Given the description of an element on the screen output the (x, y) to click on. 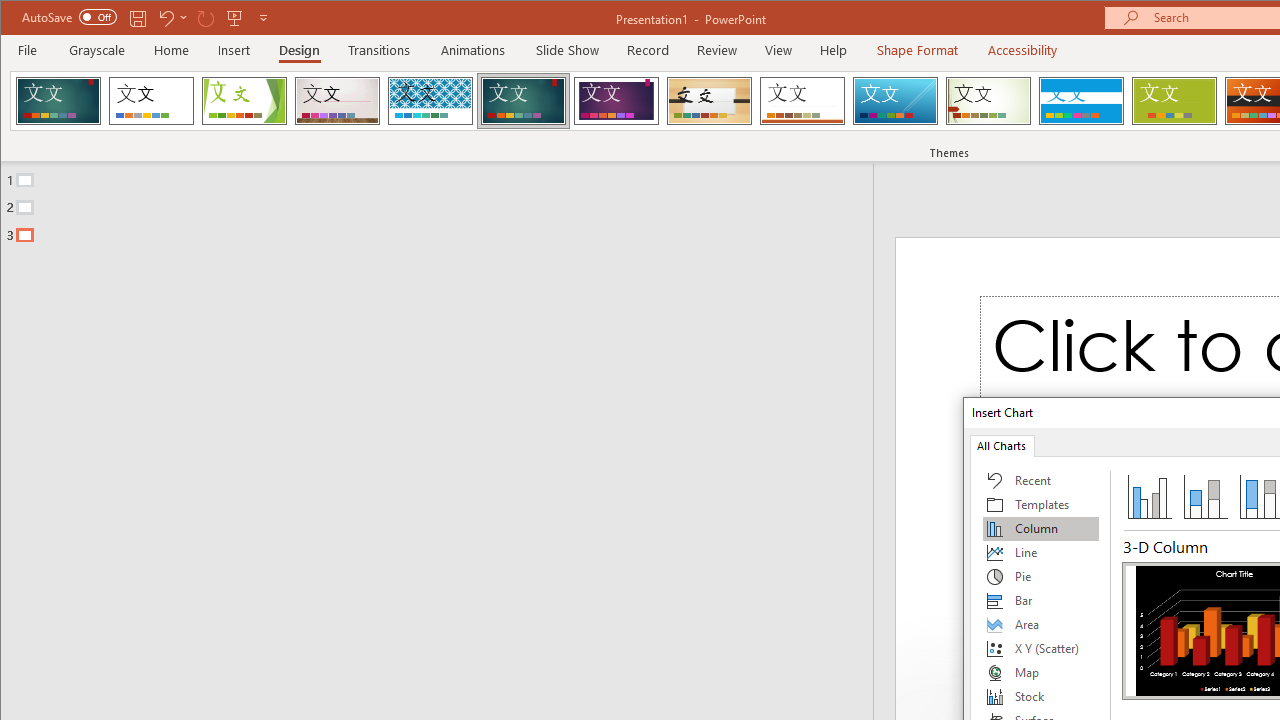
Basis (1174, 100)
Column (1041, 528)
Map (1041, 672)
X Y (Scatter) (1041, 648)
